Given the description of an element on the screen output the (x, y) to click on. 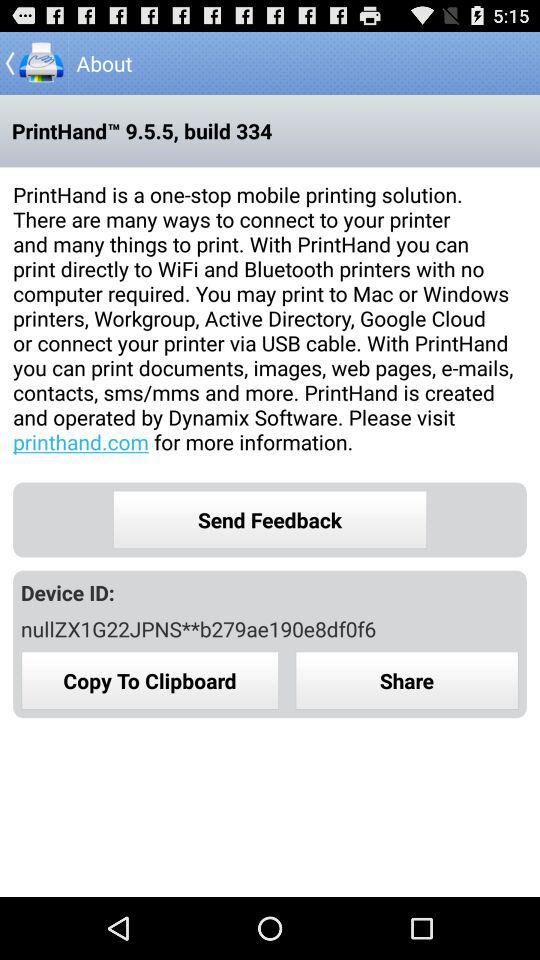
turn on the app below the nullzx1g22jpns**b279ae190e8df0f6 item (407, 680)
